Given the description of an element on the screen output the (x, y) to click on. 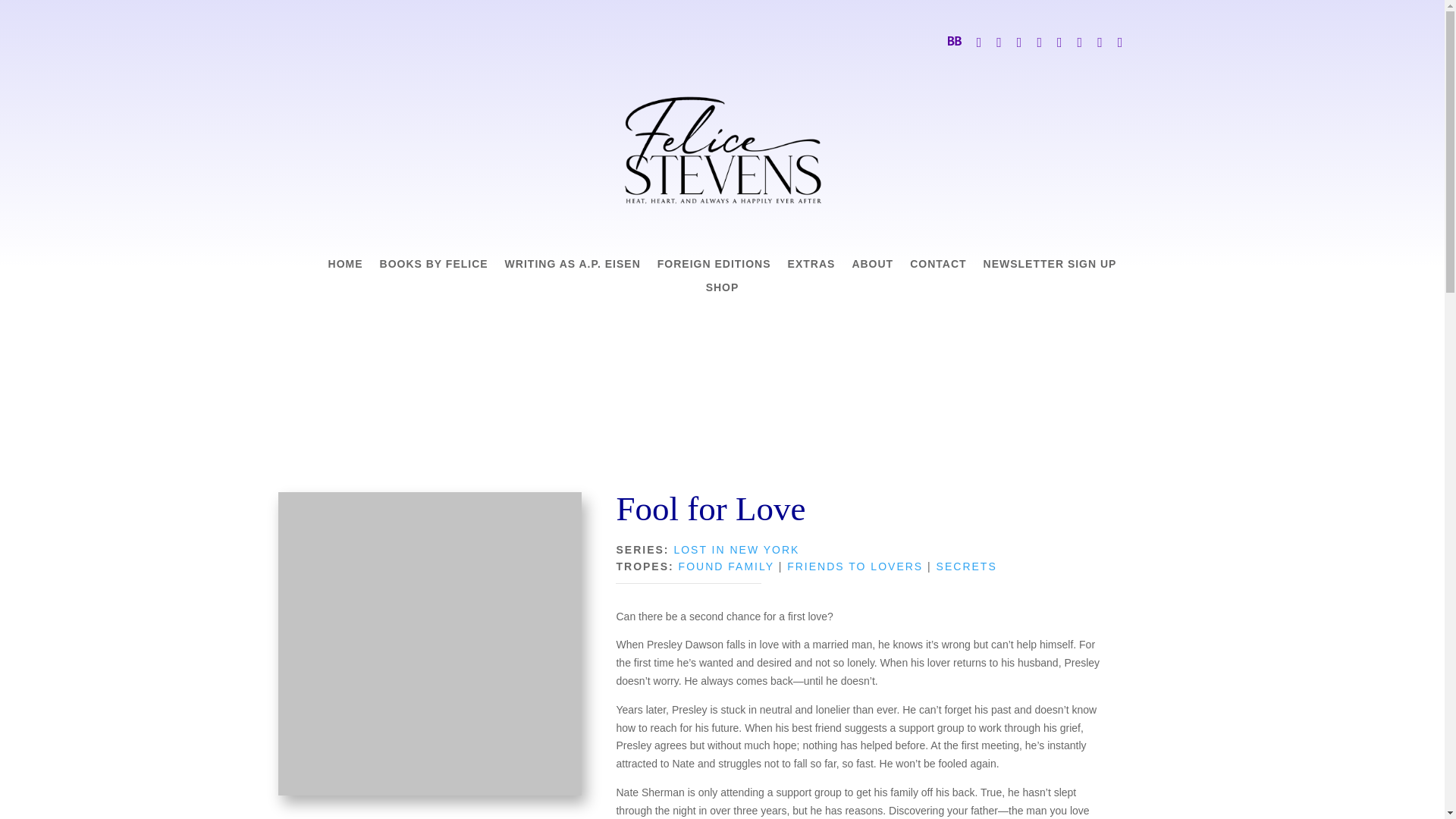
EXTRAS (811, 267)
BOOKS BY FELICE (433, 267)
Felice Stevens (722, 150)
NEWSLETTER SIGN UP (1050, 267)
SHOP (722, 291)
Fool For Love (429, 643)
CONTACT (938, 267)
HOME (345, 267)
ABOUT (872, 267)
FOREIGN EDITIONS (714, 267)
LOST IN NEW YORK (735, 549)
WRITING AS A.P. EISEN (572, 267)
FRIENDS TO LOVERS (855, 566)
SECRETS (966, 566)
FOUND FAMILY (726, 566)
